Given the description of an element on the screen output the (x, y) to click on. 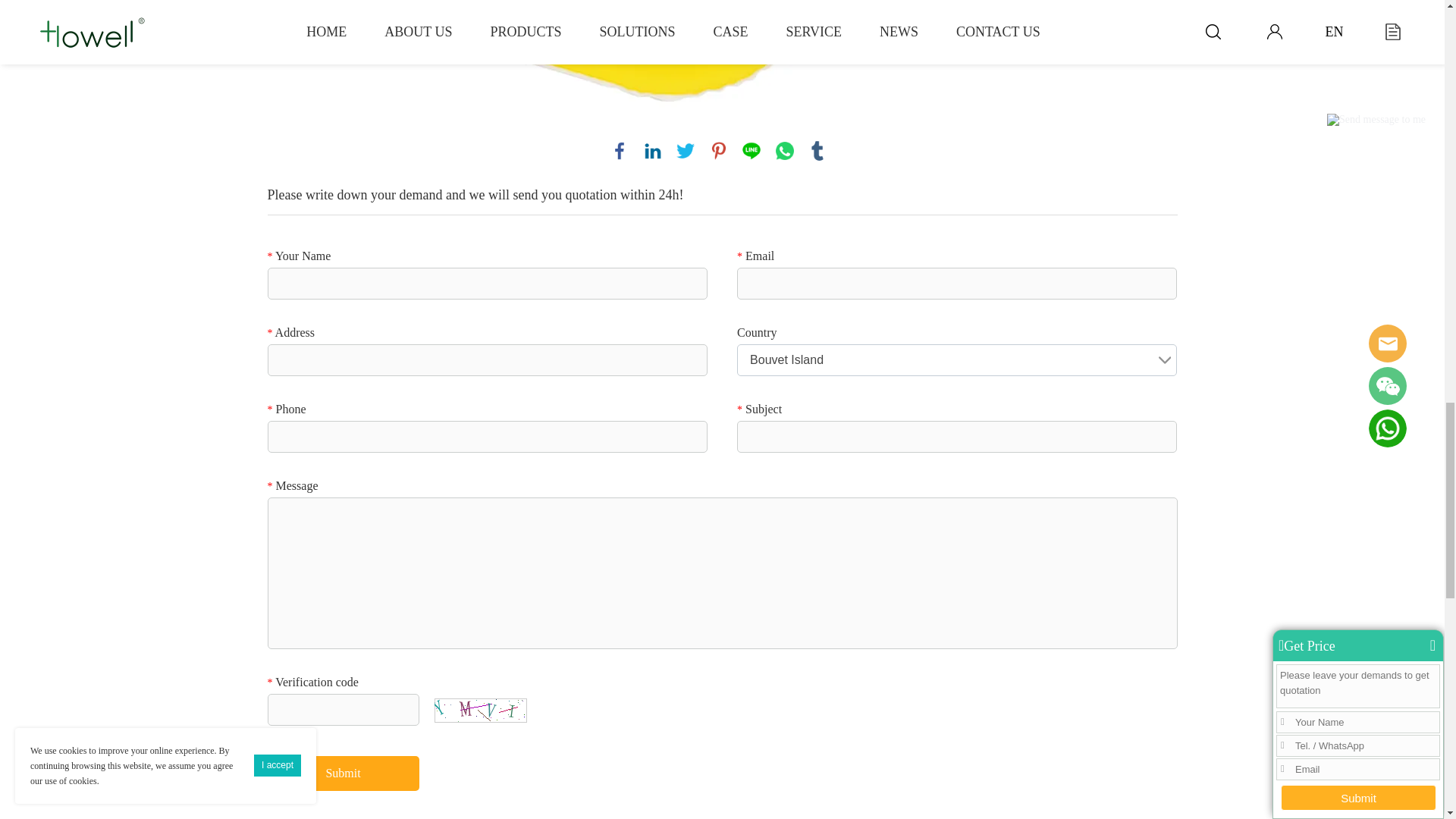
Submit (342, 773)
